Given the description of an element on the screen output the (x, y) to click on. 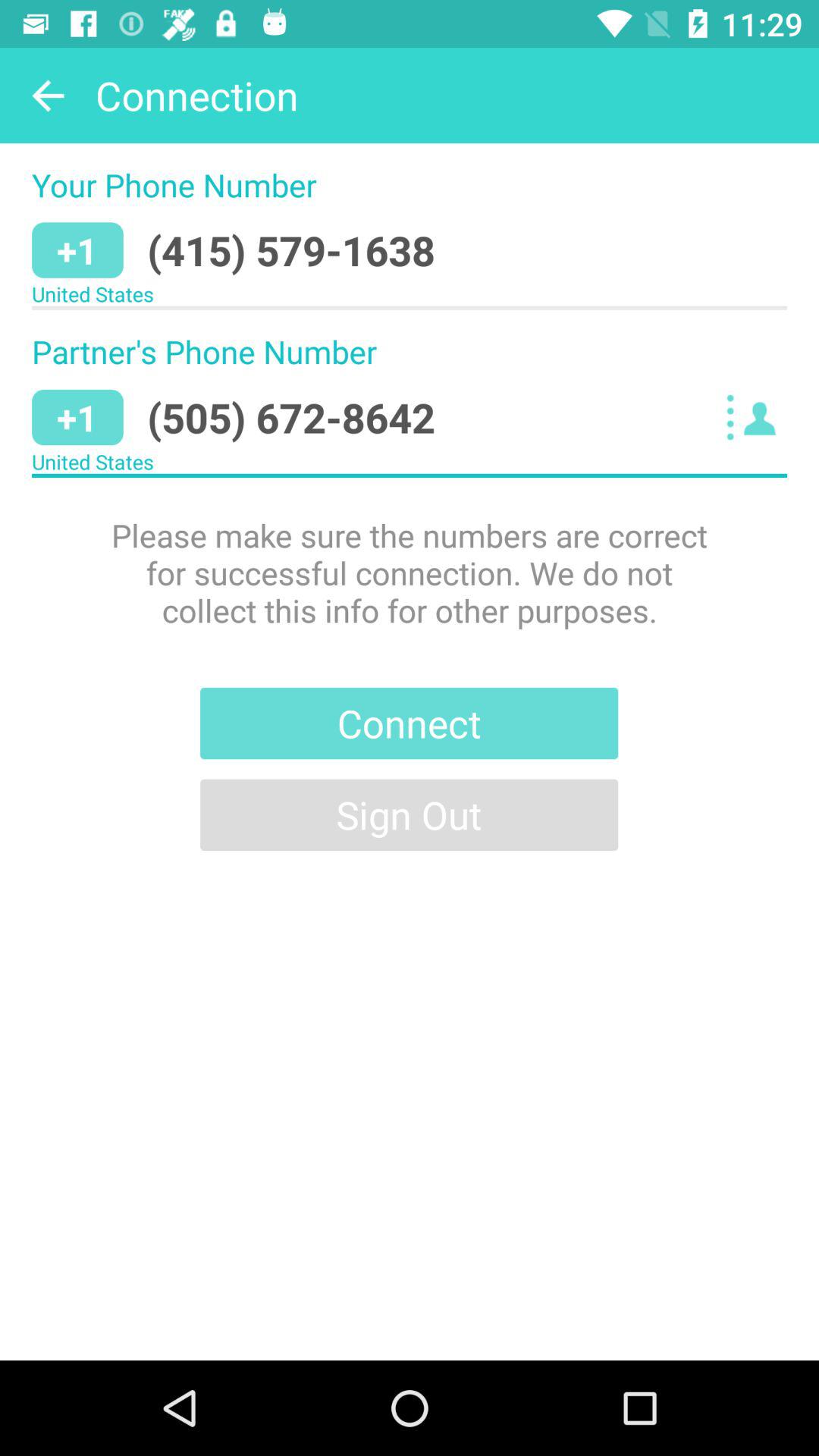
launch the (415) 579-1638 (291, 250)
